Given the description of an element on the screen output the (x, y) to click on. 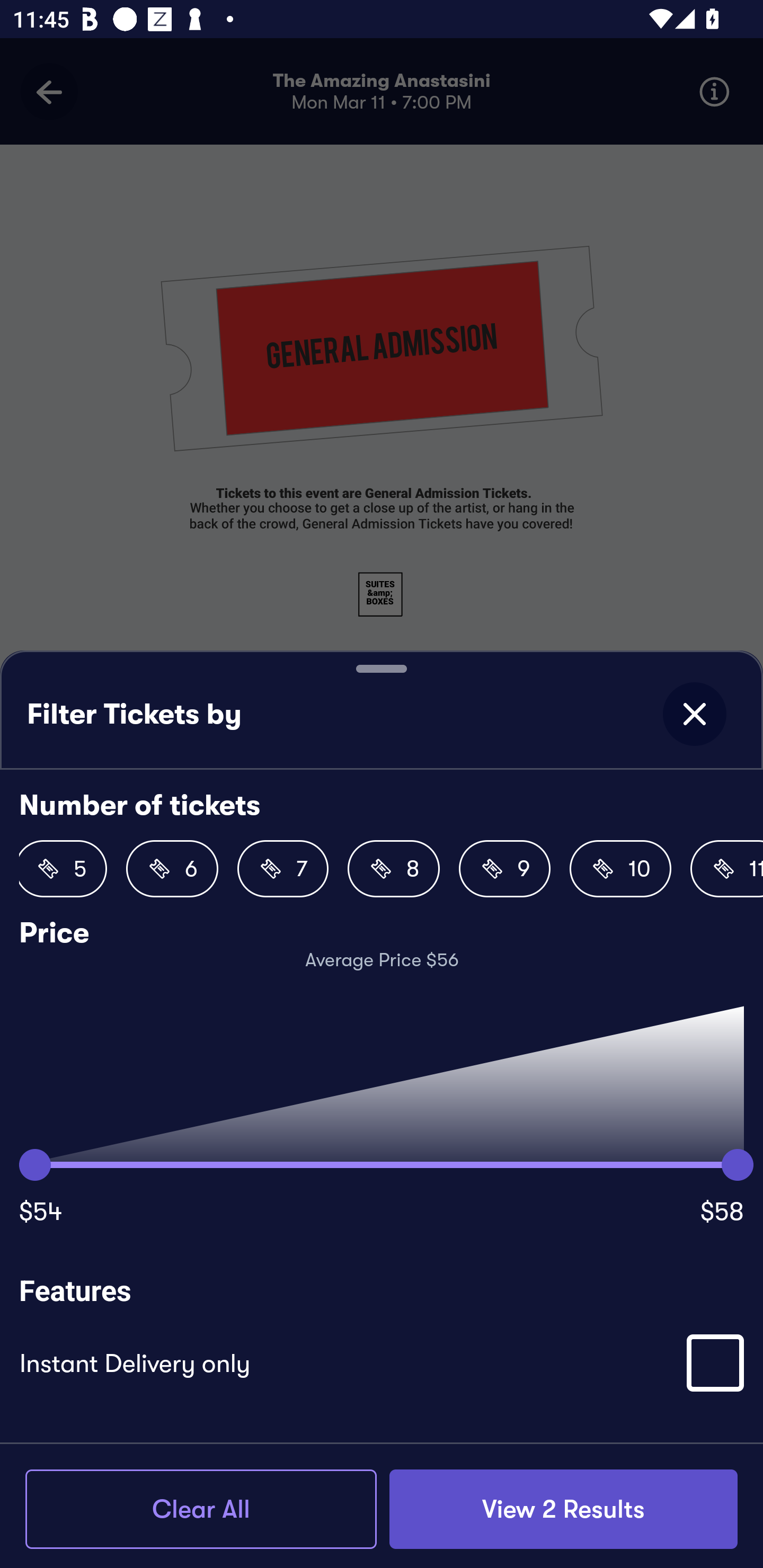
close (694, 714)
5 (62, 868)
6 (171, 868)
7 (282, 868)
8 (393, 868)
9 (504, 868)
10 (620, 868)
11 (726, 868)
Clear All (200, 1509)
View 2 Results (563, 1509)
